Given the description of an element on the screen output the (x, y) to click on. 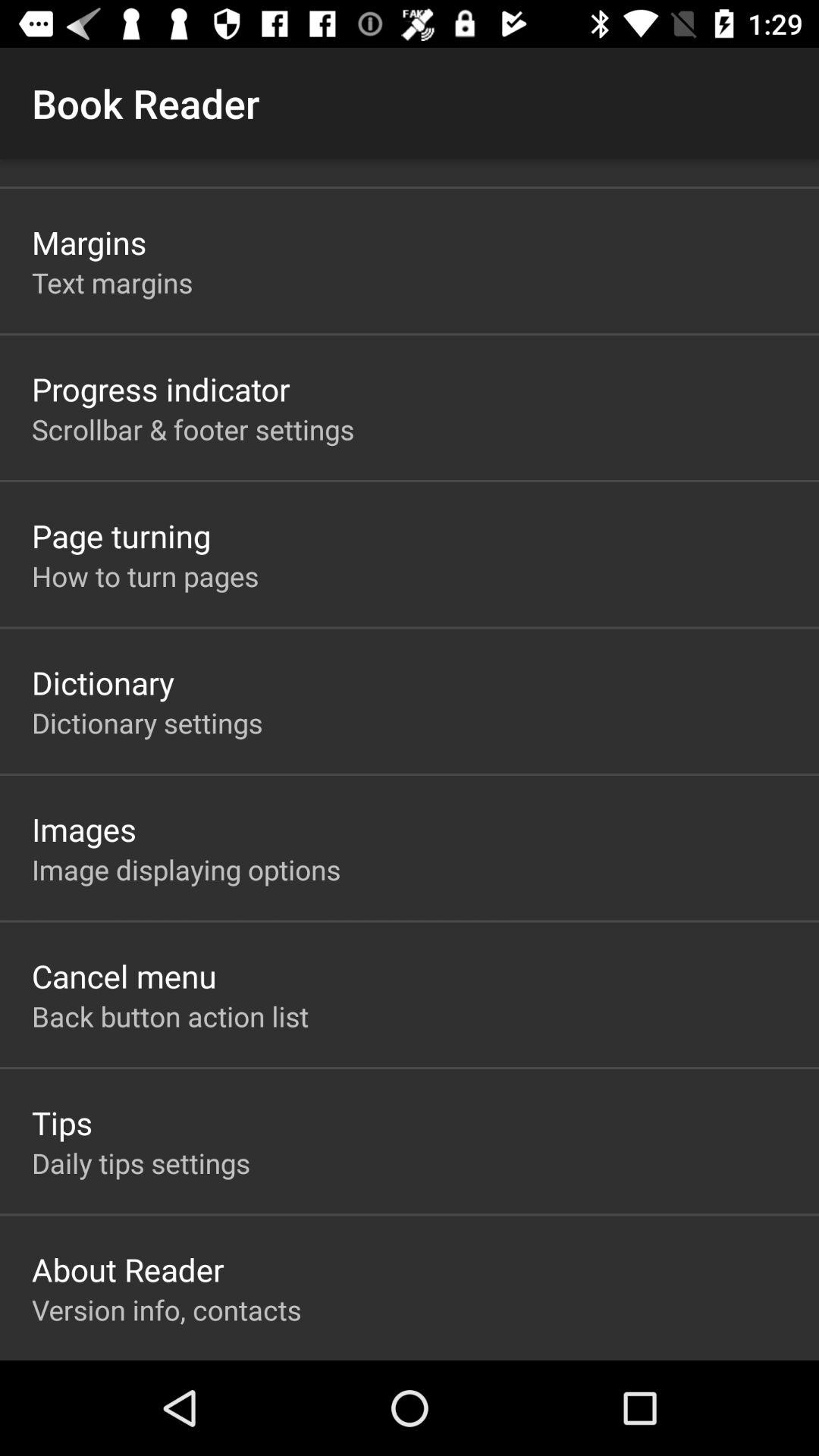
turn off dictionary settings item (146, 722)
